Given the description of an element on the screen output the (x, y) to click on. 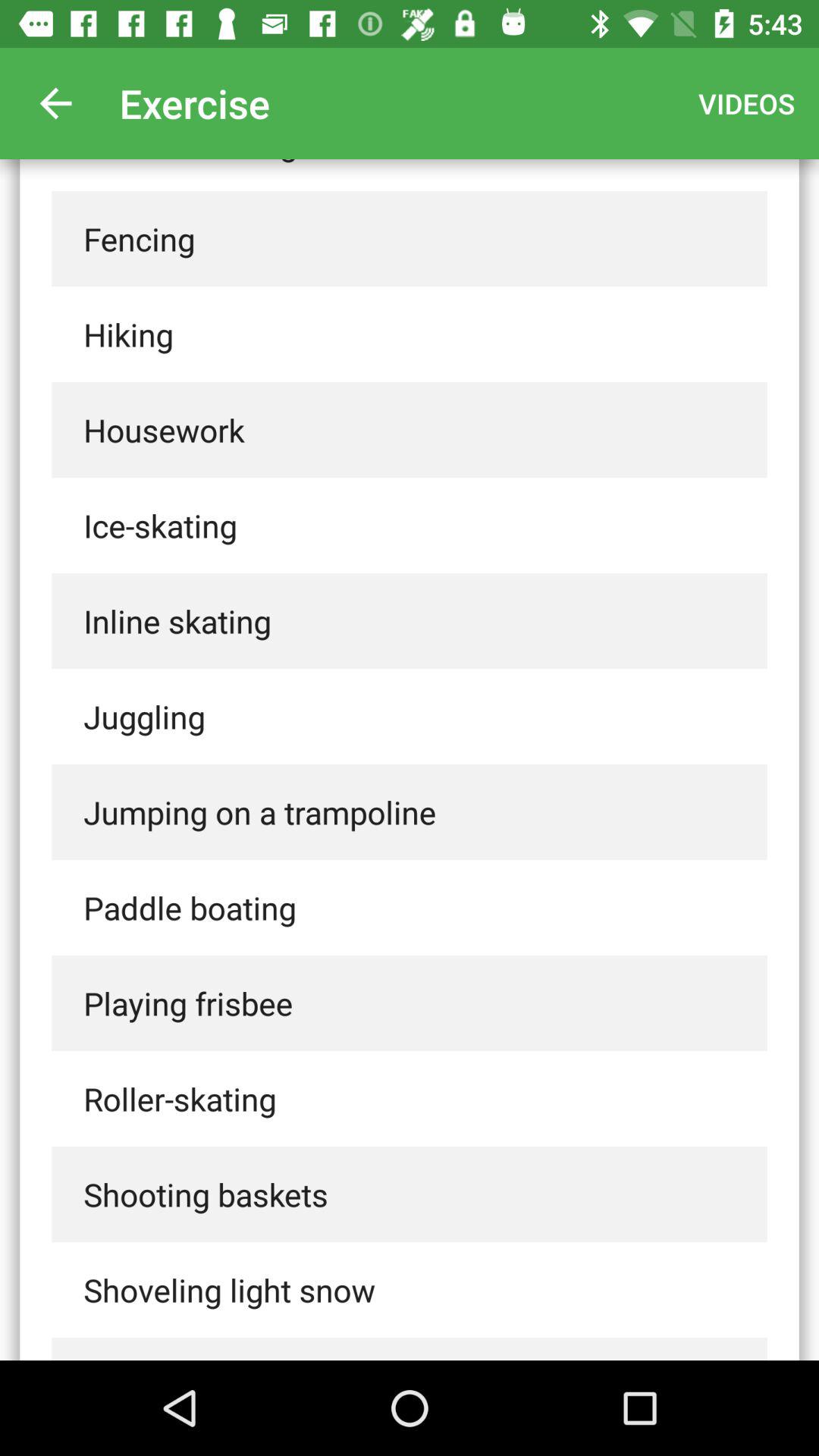
swipe to videos (746, 103)
